Given the description of an element on the screen output the (x, y) to click on. 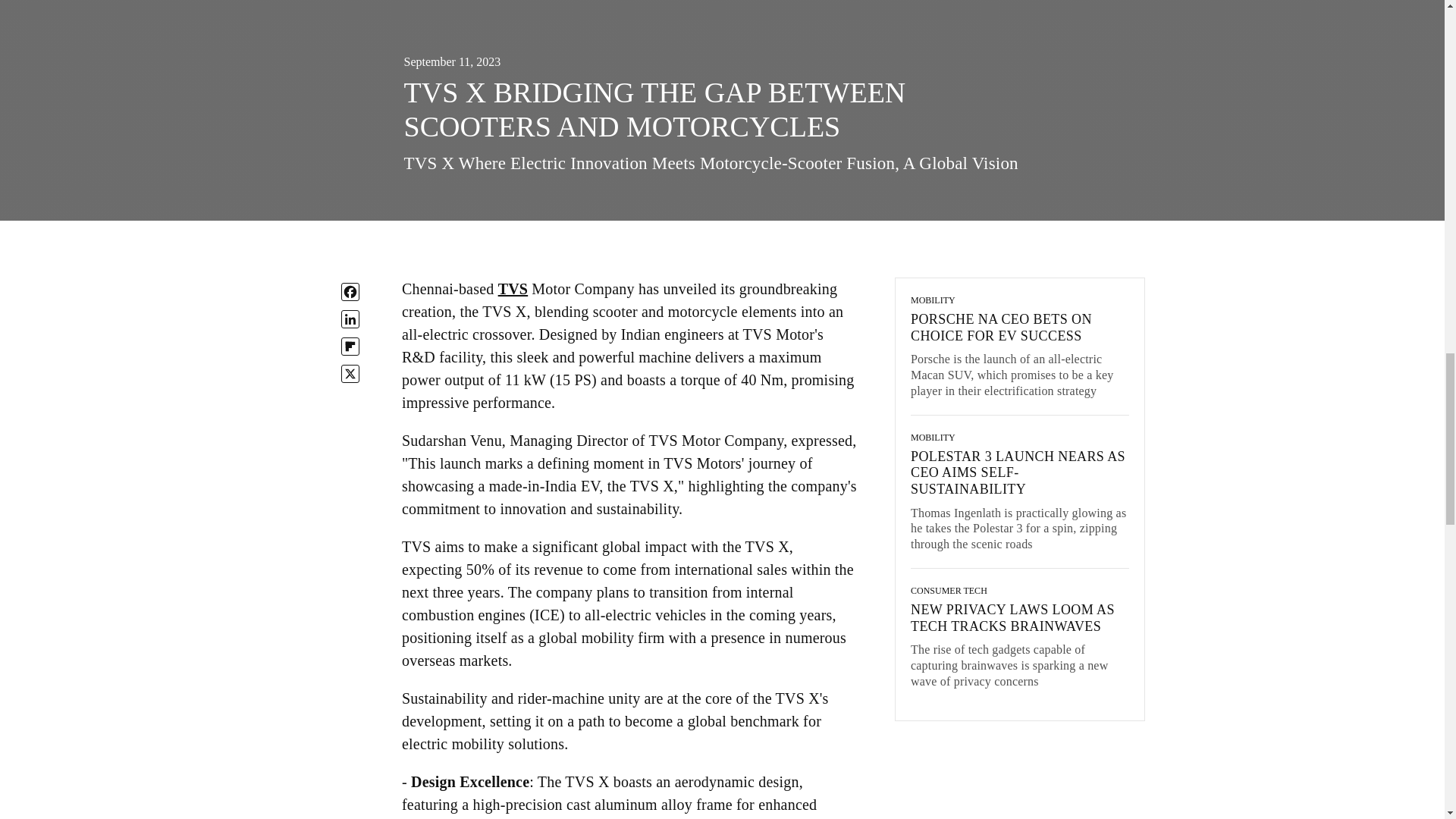
Linkedin (349, 319)
X (349, 373)
Facebook (349, 291)
Flipboard (349, 346)
